Given the description of an element on the screen output the (x, y) to click on. 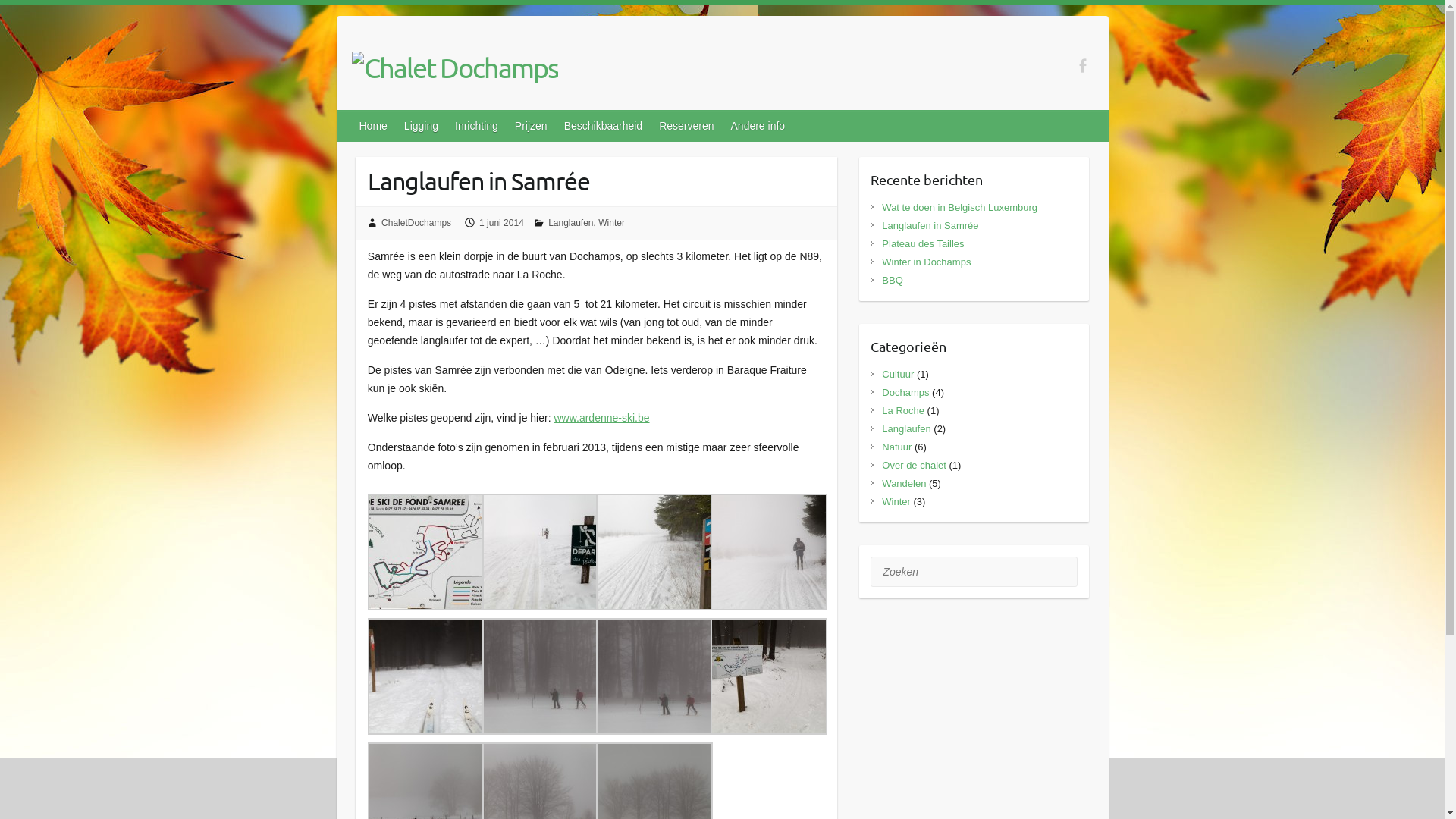
Chalet Dochamps op Facebook Element type: hover (1082, 65)
Home Element type: text (373, 125)
1 juni 2014 Element type: text (501, 222)
Andere info Element type: text (758, 125)
Over de chalet Element type: text (913, 464)
Winter in Dochamps Element type: text (925, 261)
Dochamps Element type: text (904, 392)
Cultuur Element type: text (897, 373)
Reserveren Element type: text (686, 125)
Beschikbaarheid Element type: text (604, 125)
Winter Element type: text (895, 501)
Wandelen Element type: text (903, 483)
Prijzen Element type: text (531, 125)
Plateau des Tailles Element type: text (922, 243)
Langlaufen Element type: text (570, 222)
Natuur Element type: text (896, 446)
Langlaufen Element type: text (905, 428)
La Roche Element type: text (902, 410)
Wat te doen in Belgisch Luxemburg Element type: text (959, 207)
Ligging Element type: text (421, 125)
www.ardenne-ski.be Element type: text (601, 417)
BBQ Element type: text (891, 279)
Winter Element type: text (611, 222)
Chalet Dochamps Element type: hover (454, 67)
ChaletDochamps Element type: text (416, 222)
Inrichting Element type: text (477, 125)
